Given the description of an element on the screen output the (x, y) to click on. 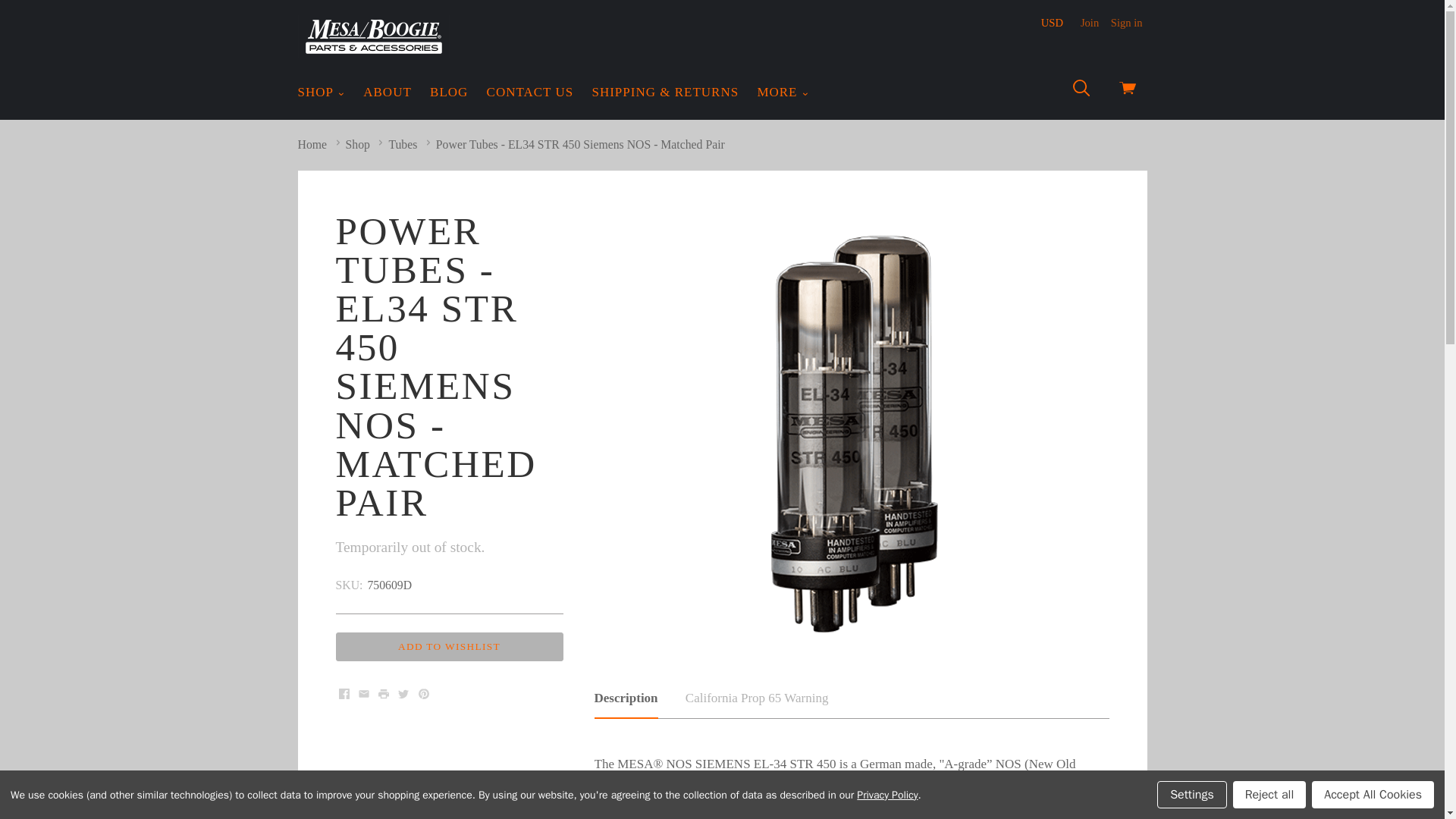
Sign in (1126, 22)
Add to Wishlist (448, 646)
MORE (782, 92)
BLOG (448, 92)
Tubes (402, 144)
CONTACT US (530, 92)
Power Tubes - EL34 STR 450 Siemens NOS - Matched Pair (580, 144)
Home (311, 144)
Join (1089, 22)
View cart (1127, 90)
ABOUT (386, 92)
Shop (357, 144)
Add to Wishlist (448, 646)
SHOP (320, 92)
View cart (1127, 90)
